Given the description of an element on the screen output the (x, y) to click on. 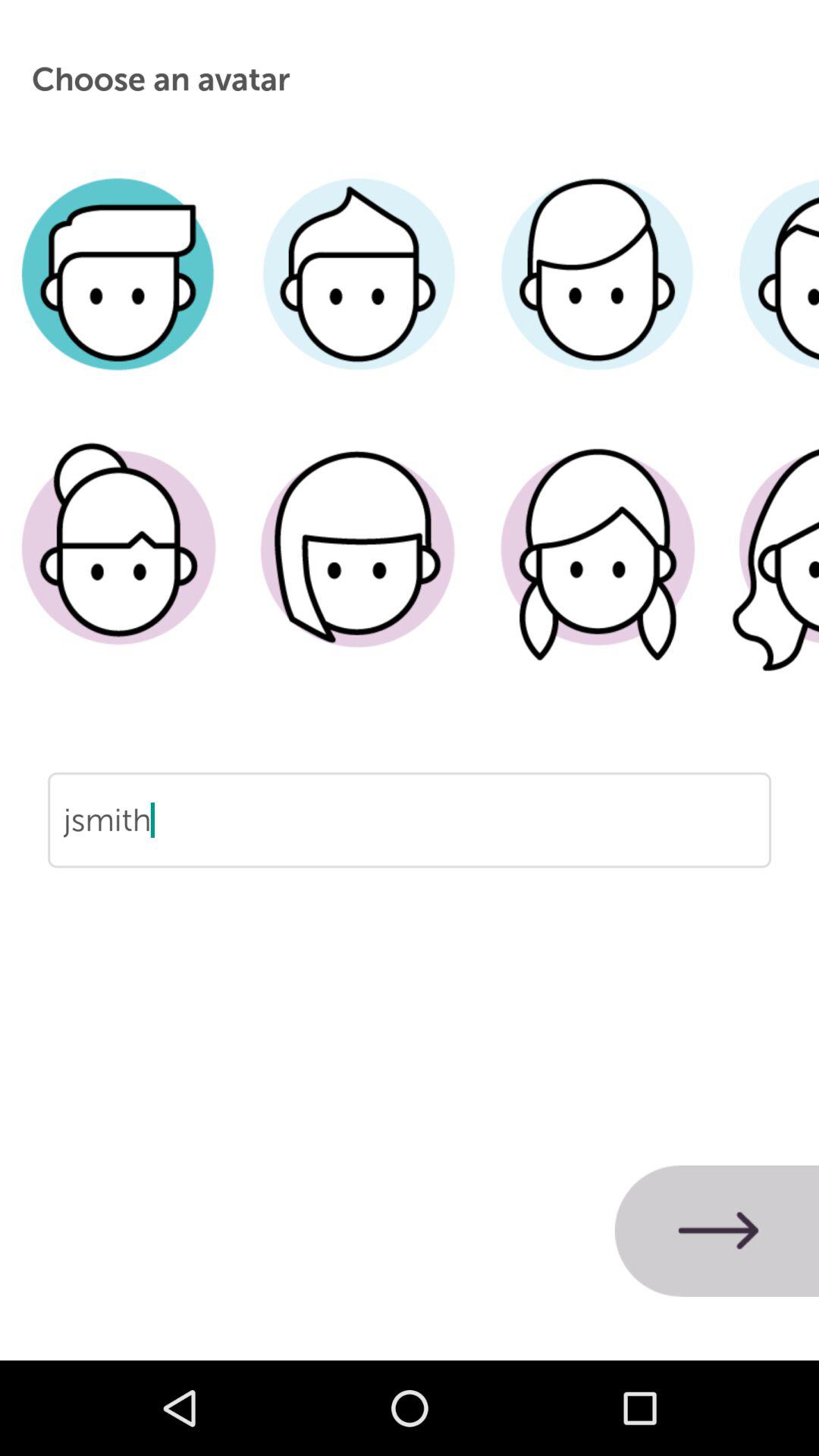
select a character (119, 570)
